Given the description of an element on the screen output the (x, y) to click on. 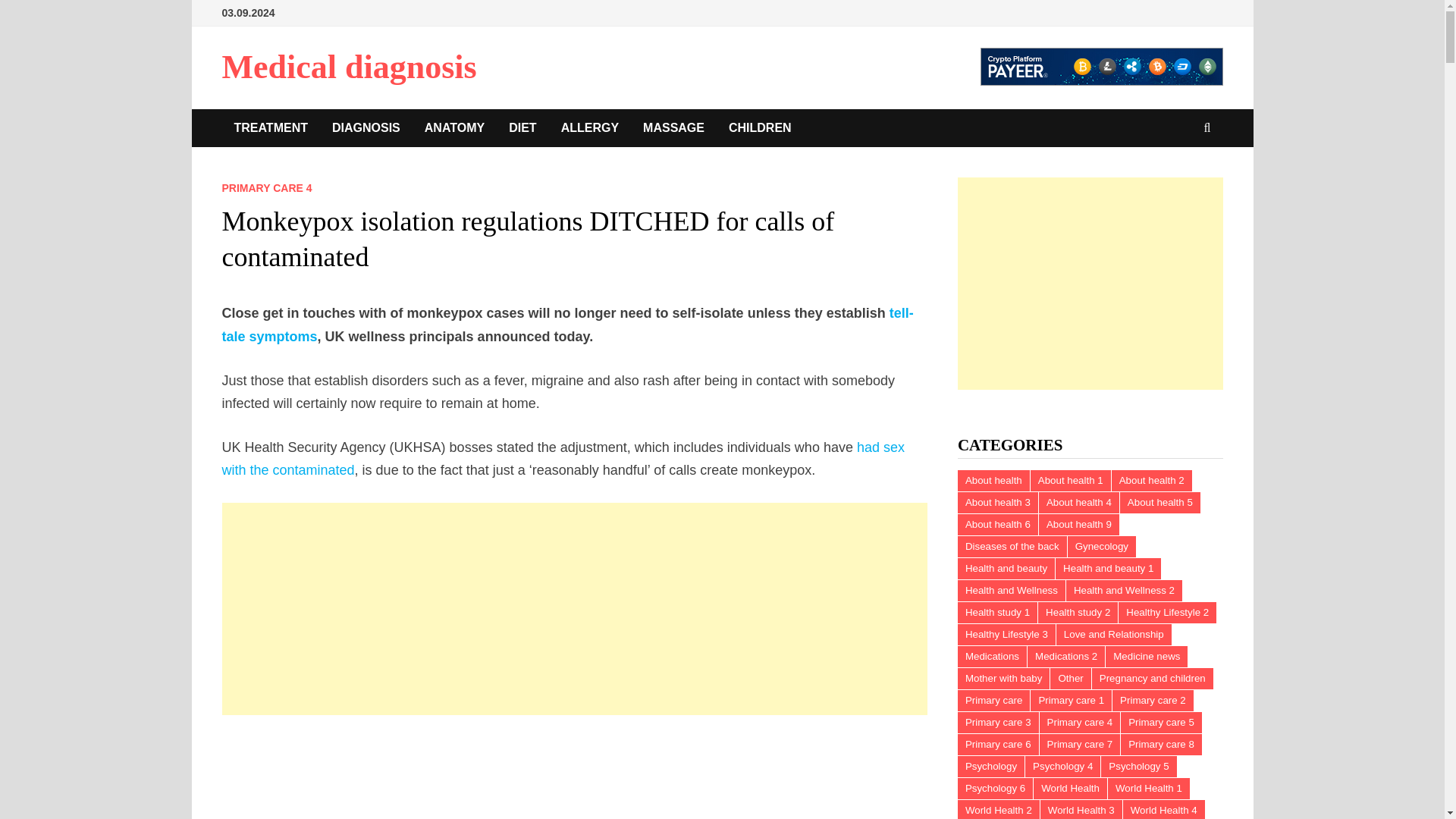
DIET (522, 127)
Advertisement (1090, 283)
Advertisement (574, 777)
About health 2 (1152, 480)
TREATMENT (269, 127)
tell-tale symptoms (566, 324)
About health 1 (1070, 480)
PRIMARY CARE 4 (266, 187)
ALLERGY (589, 127)
CHILDREN (759, 127)
